Given the description of an element on the screen output the (x, y) to click on. 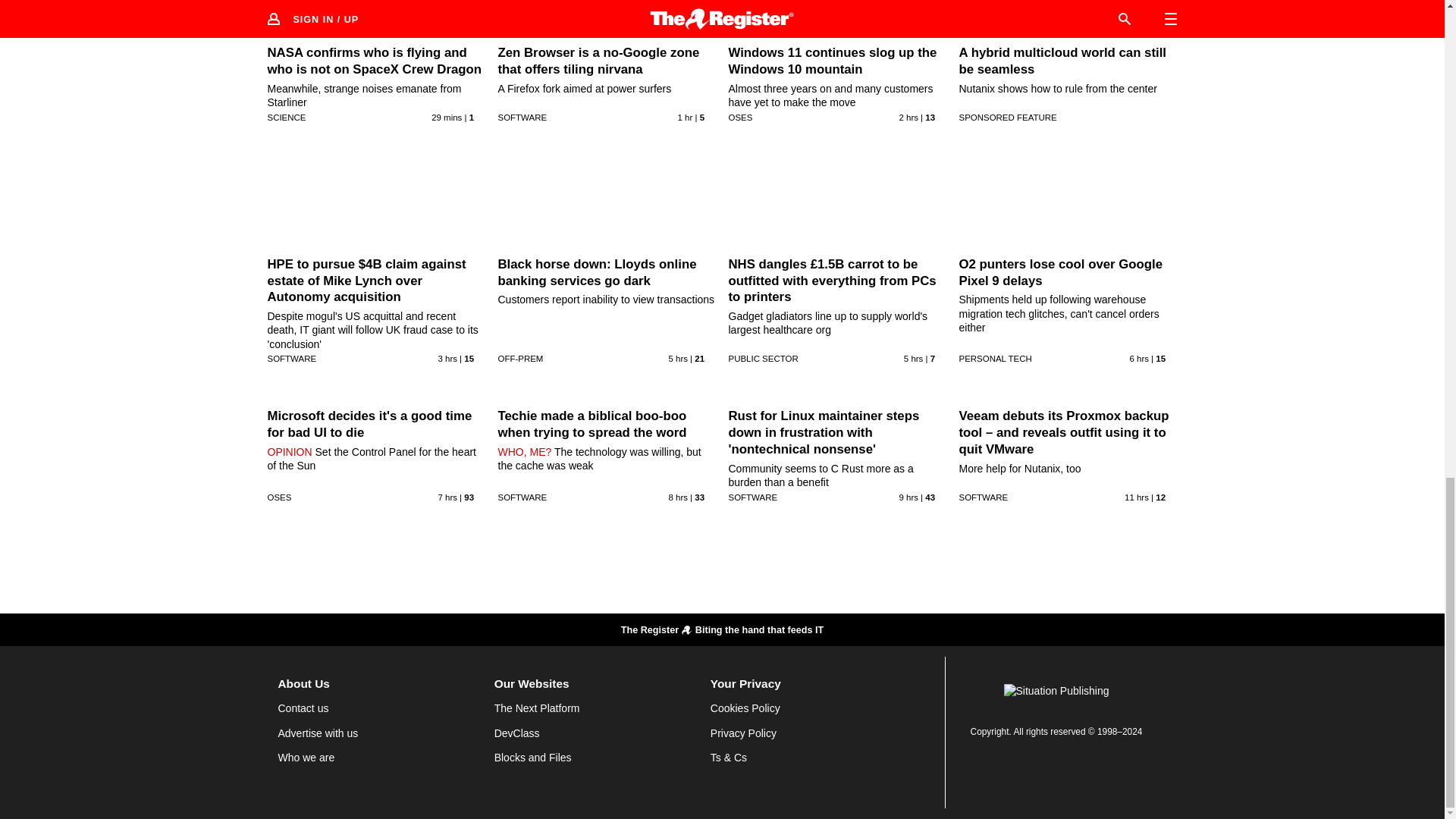
2 Sep 2024 15:26 (445, 117)
2 Sep 2024 9:45 (1138, 358)
2 Sep 2024 12:58 (447, 358)
2 Sep 2024 13:33 (908, 117)
2 Sep 2024 14:34 (685, 117)
2 Sep 2024 8:30 (447, 497)
2 Sep 2024 10:34 (913, 358)
2 Sep 2024 11:21 (677, 358)
